Given the description of an element on the screen output the (x, y) to click on. 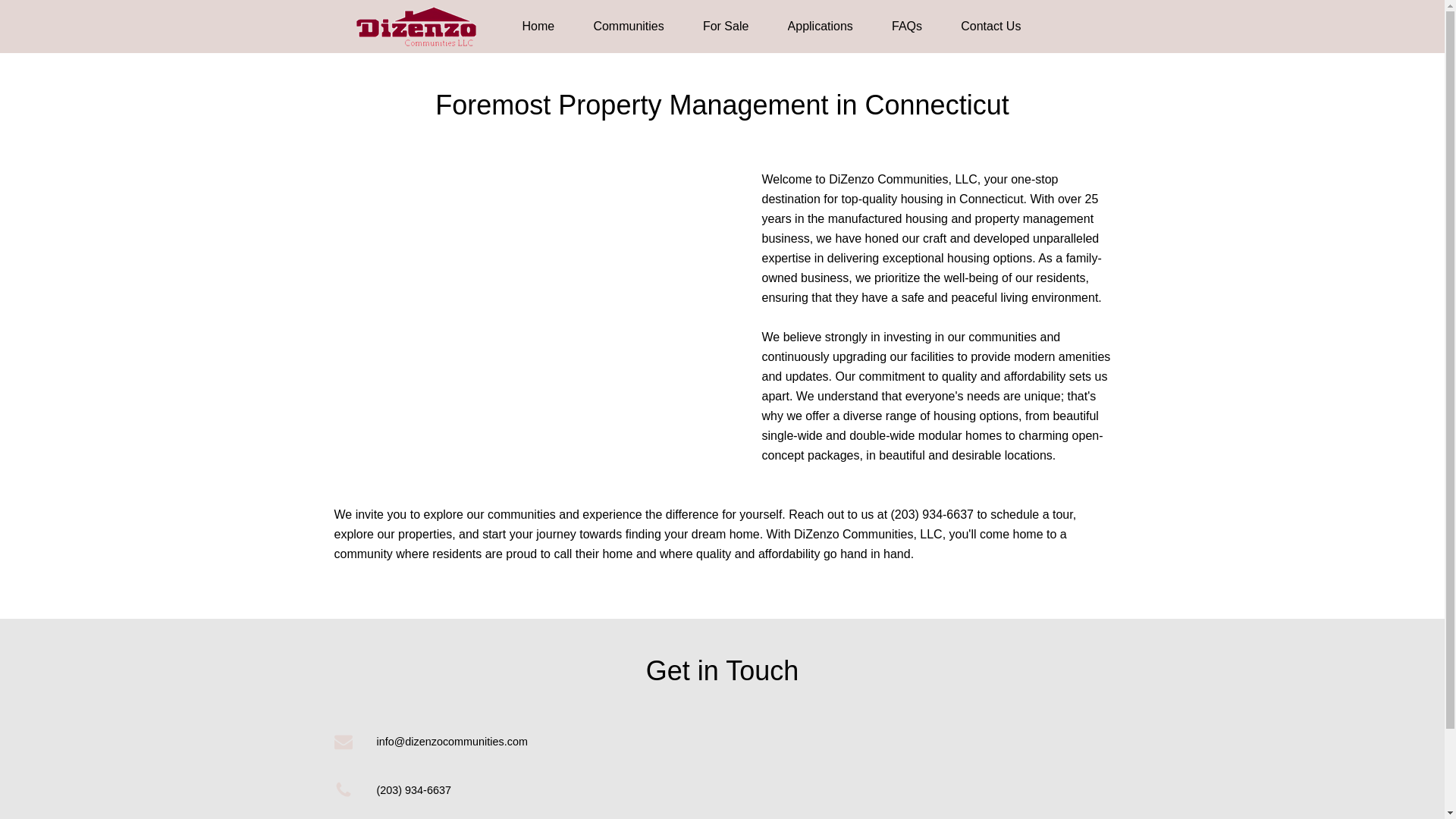
Home (537, 26)
For Sale (725, 26)
Contact Us (990, 26)
Applications (820, 26)
Communities (627, 26)
FAQs (906, 26)
